Given the description of an element on the screen output the (x, y) to click on. 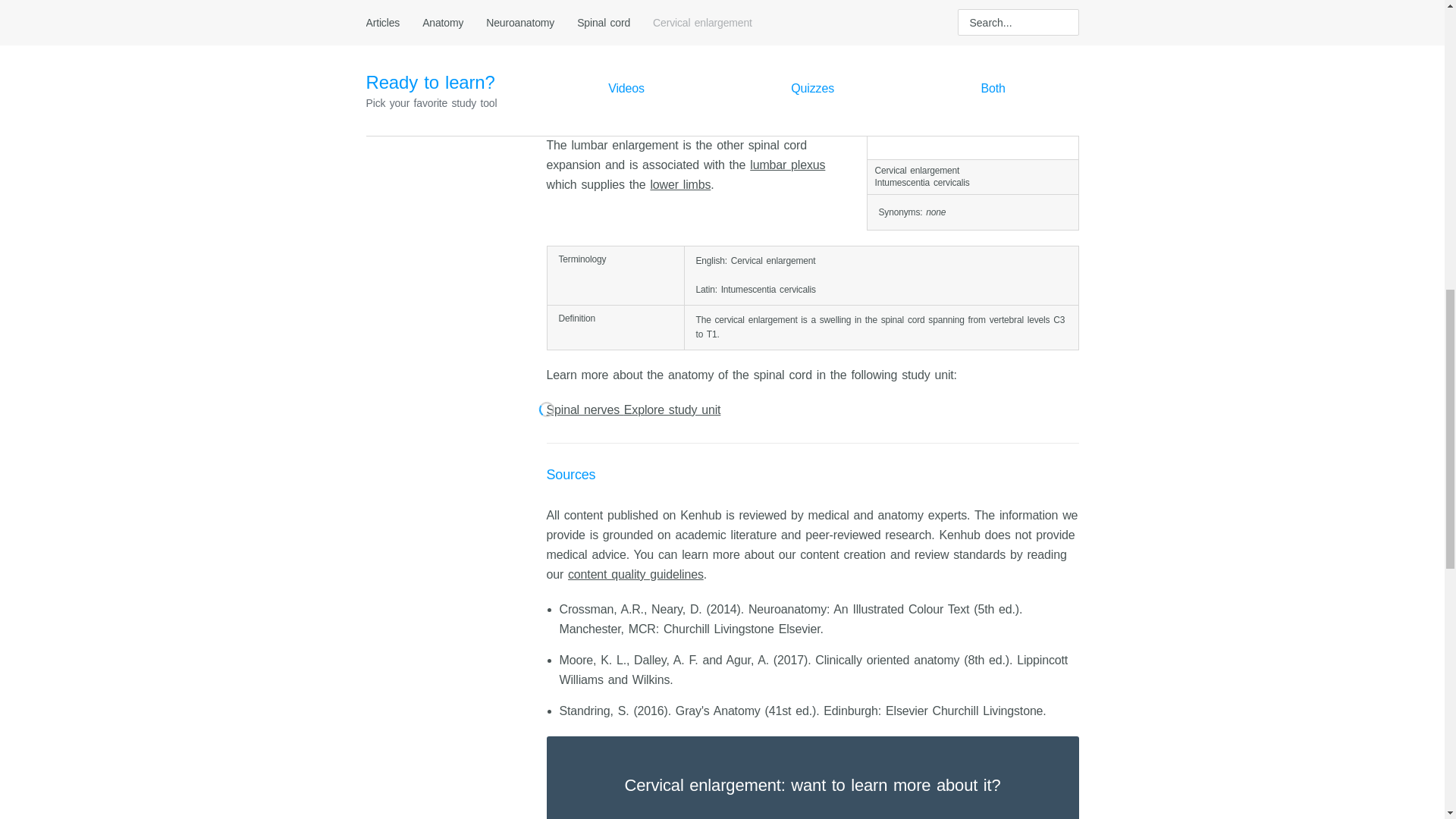
Spinal nerves : Explore study unit (812, 410)
